Given the description of an element on the screen output the (x, y) to click on. 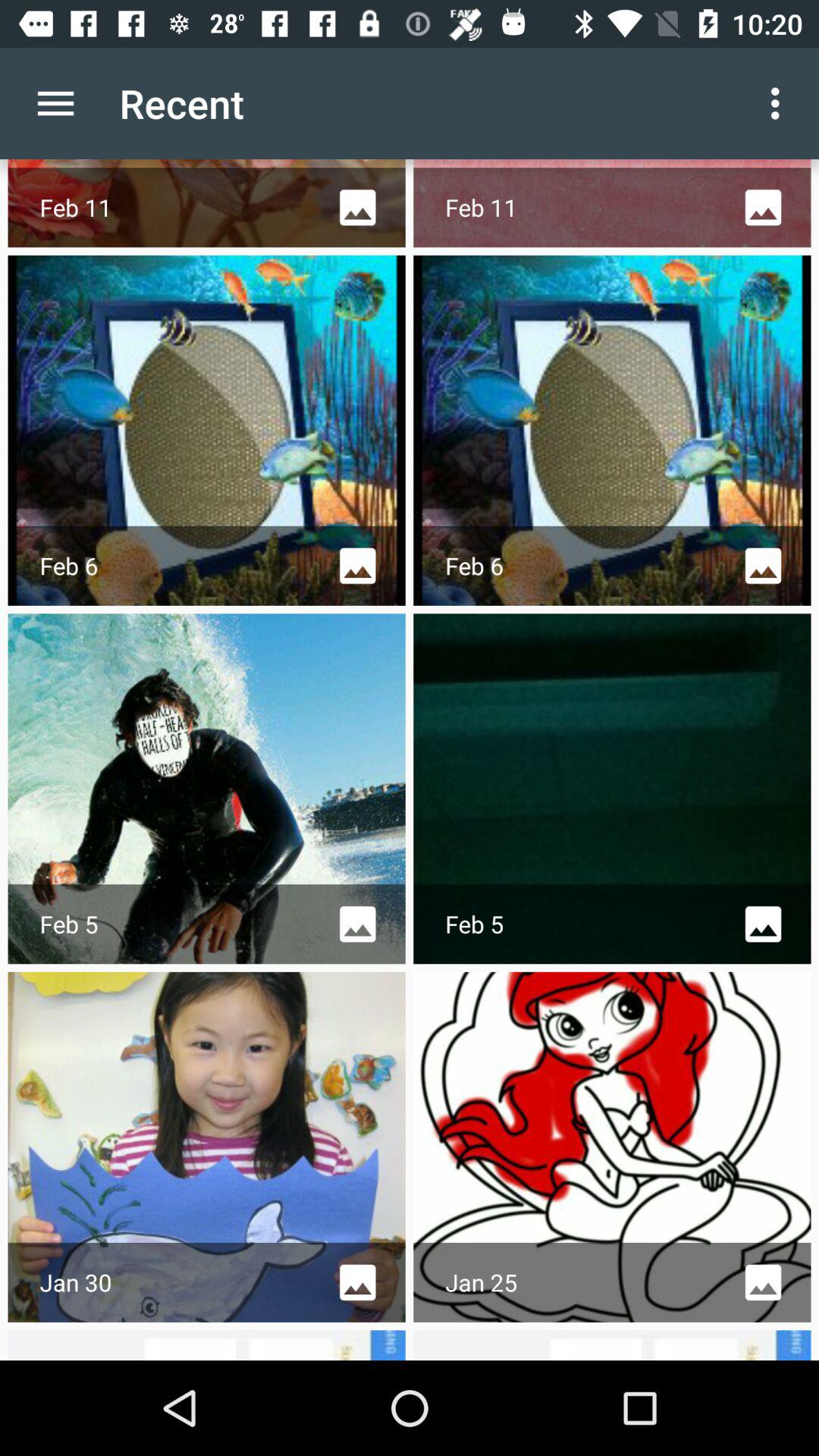
turn on icon to the left of the recent item (55, 103)
